Given the description of an element on the screen output the (x, y) to click on. 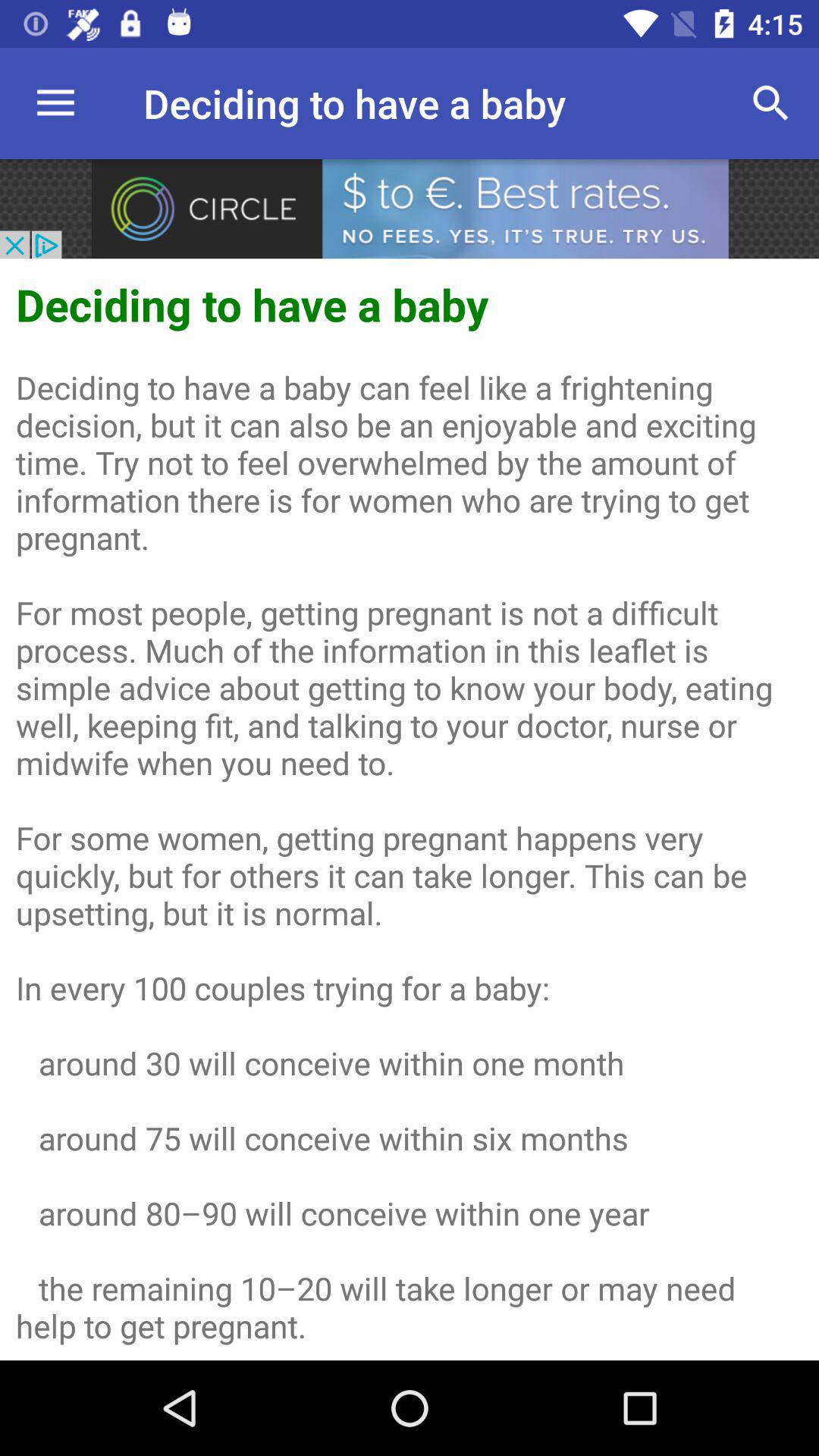
rating (409, 208)
